Given the description of an element on the screen output the (x, y) to click on. 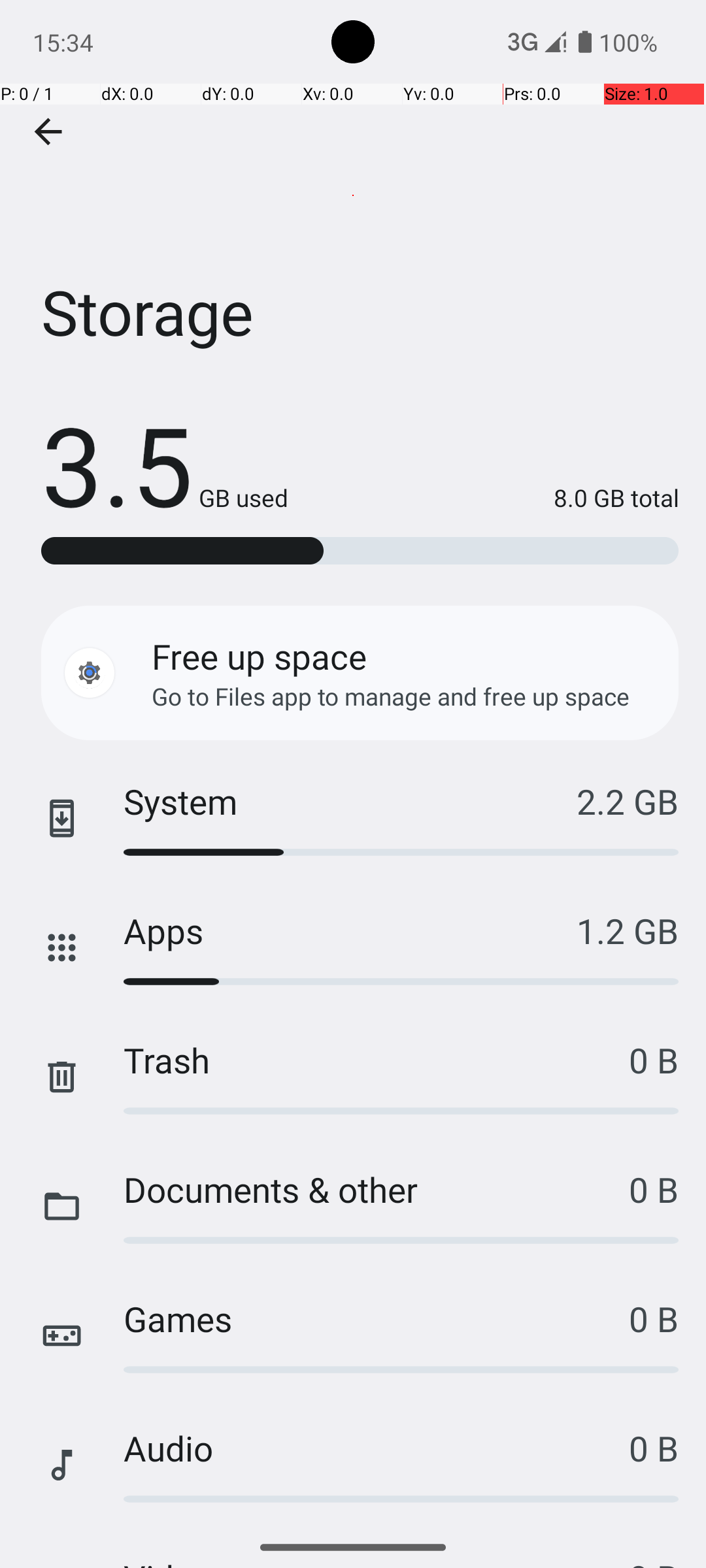
3.5 GB used Element type: android.widget.TextView (164, 463)
2.2 GB Element type: android.widget.TextView (627, 801)
1.2 GB Element type: android.widget.TextView (627, 930)
